Given the description of an element on the screen output the (x, y) to click on. 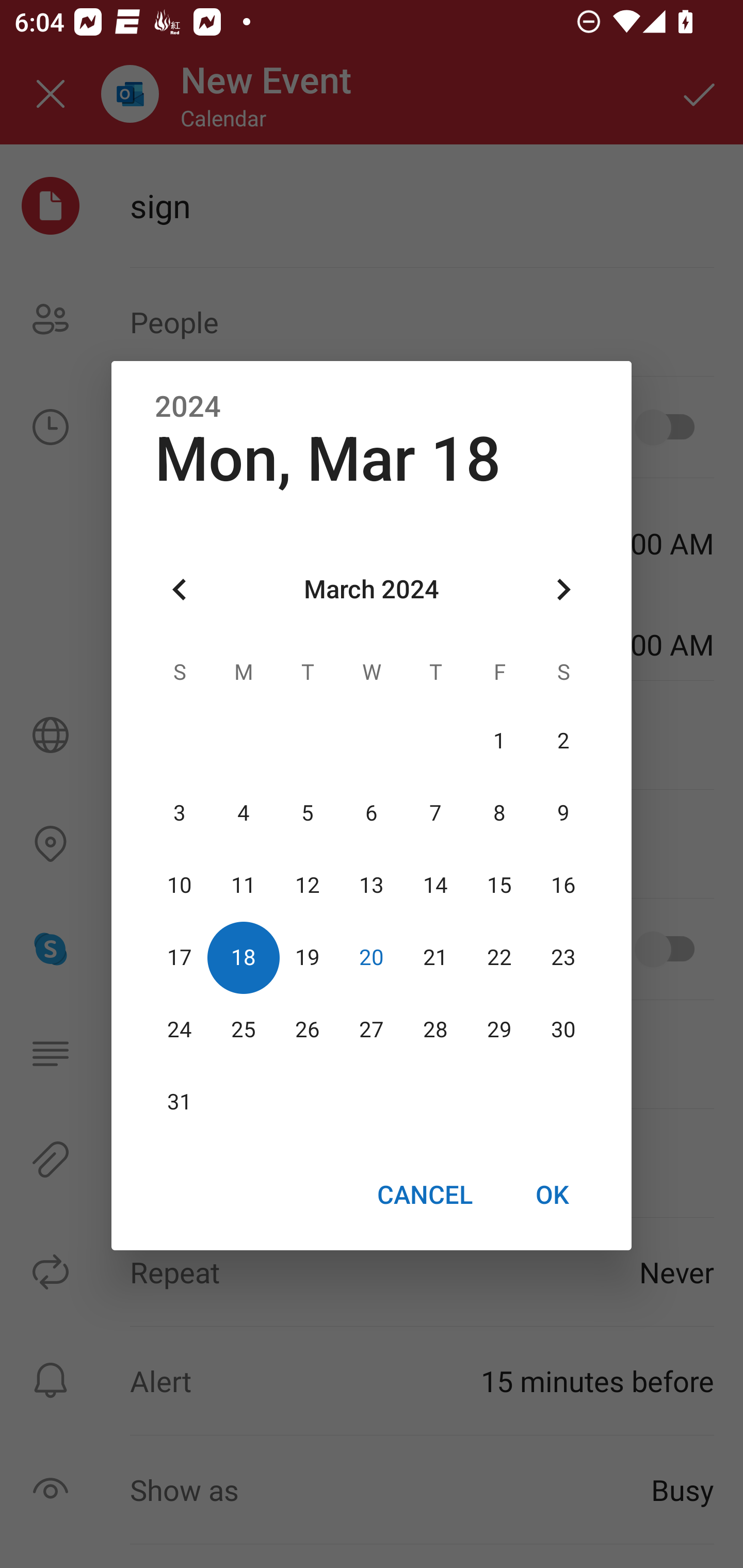
2024 (187, 406)
Mon, Mar 18 (327, 459)
Previous month (178, 589)
Next month (563, 589)
1 01 March 2024 (499, 741)
2 02 March 2024 (563, 741)
3 03 March 2024 (179, 813)
4 04 March 2024 (243, 813)
5 05 March 2024 (307, 813)
6 06 March 2024 (371, 813)
7 07 March 2024 (435, 813)
8 08 March 2024 (499, 813)
9 09 March 2024 (563, 813)
10 10 March 2024 (179, 885)
11 11 March 2024 (243, 885)
12 12 March 2024 (307, 885)
13 13 March 2024 (371, 885)
14 14 March 2024 (435, 885)
15 15 March 2024 (499, 885)
16 16 March 2024 (563, 885)
17 17 March 2024 (179, 957)
18 18 March 2024 (243, 957)
19 19 March 2024 (307, 957)
20 20 March 2024 (371, 957)
21 21 March 2024 (435, 957)
22 22 March 2024 (499, 957)
23 23 March 2024 (563, 957)
24 24 March 2024 (179, 1030)
25 25 March 2024 (243, 1030)
26 26 March 2024 (307, 1030)
27 27 March 2024 (371, 1030)
28 28 March 2024 (435, 1030)
29 29 March 2024 (499, 1030)
30 30 March 2024 (563, 1030)
31 31 March 2024 (179, 1102)
CANCEL (424, 1194)
OK (552, 1194)
